Given the description of an element on the screen output the (x, y) to click on. 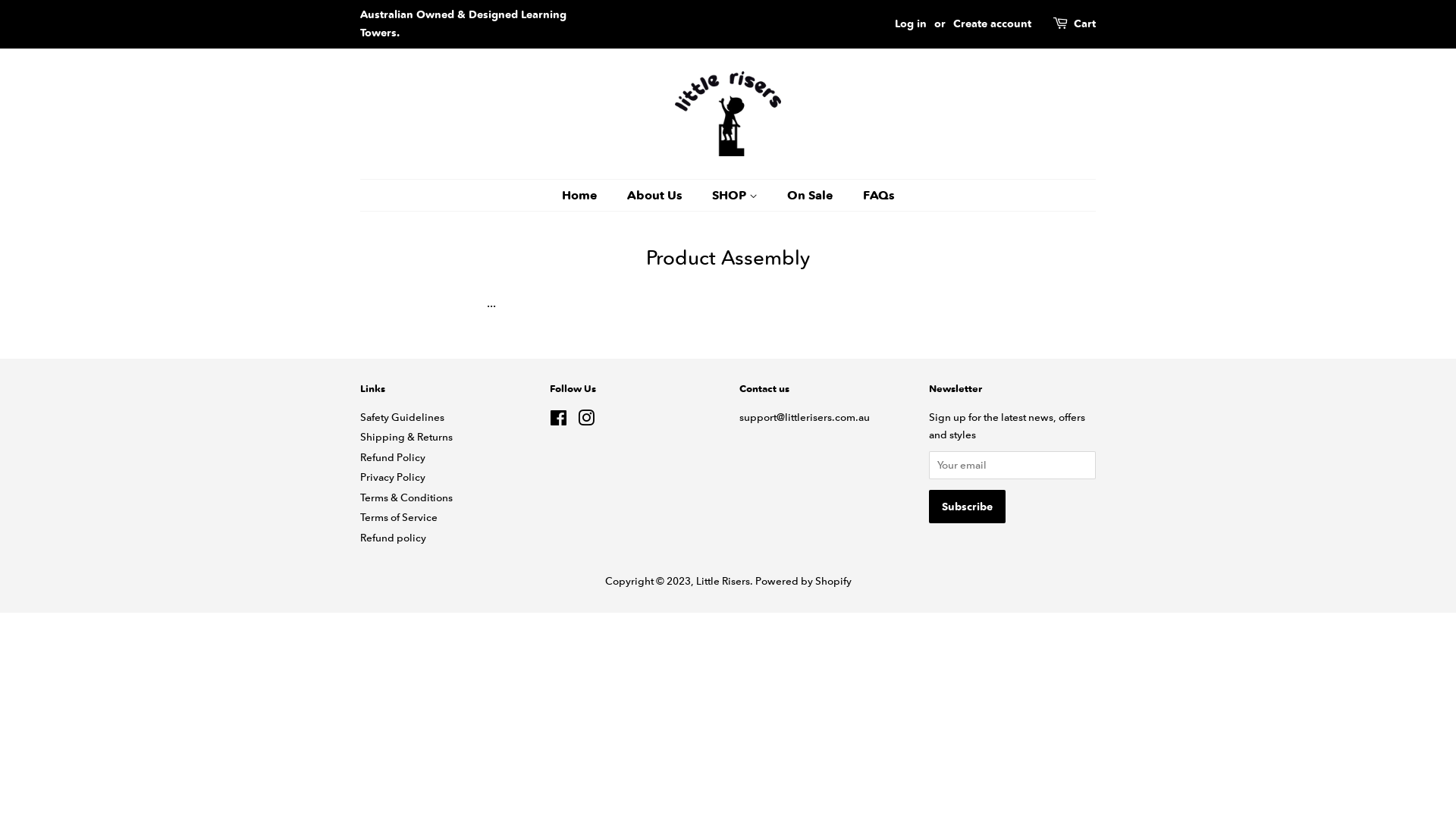
Create account Element type: text (992, 23)
SHOP Element type: text (736, 194)
About Us Element type: text (656, 194)
FAQs Element type: text (872, 194)
Shipping & Returns Element type: text (406, 436)
Little Risers Element type: text (722, 580)
On Sale Element type: text (811, 194)
Cart Element type: text (1084, 24)
Safety Guidelines Element type: text (402, 416)
Instagram Element type: text (585, 420)
Terms of Service Element type: text (398, 517)
Log in Element type: text (910, 23)
Refund policy Element type: text (393, 537)
Home Element type: text (586, 194)
Facebook Element type: text (558, 420)
Terms & Conditions Element type: text (406, 497)
Refund Policy Element type: text (392, 457)
Privacy Policy Element type: text (392, 476)
Subscribe Element type: text (966, 506)
Powered by Shopify Element type: text (803, 580)
